Given the description of an element on the screen output the (x, y) to click on. 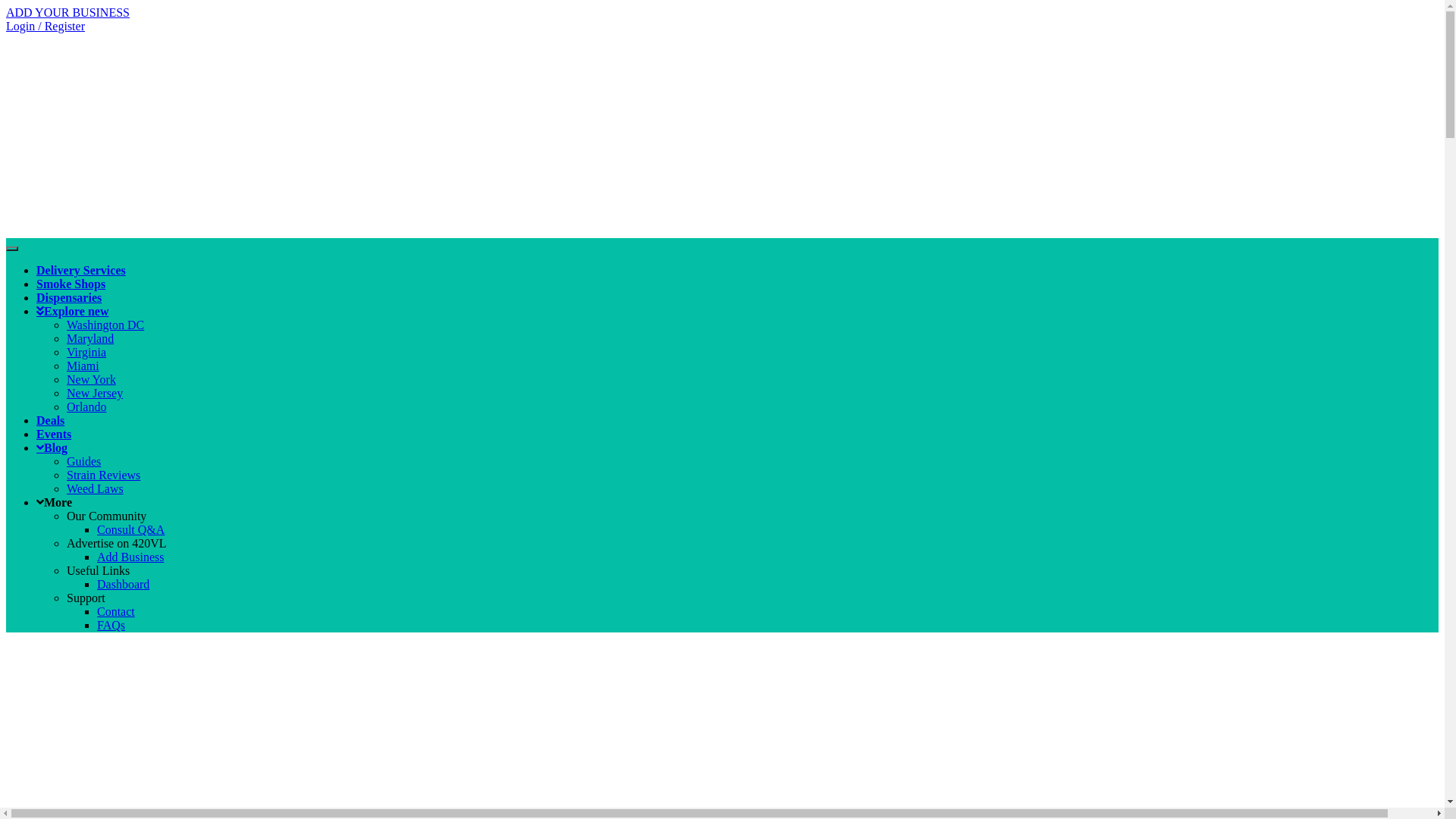
FAQs Element type: text (111, 624)
Maryland Element type: text (89, 338)
Events Element type: text (53, 433)
Dispensaries Element type: text (68, 297)
New Jersey Element type: text (94, 392)
Deals Element type: text (50, 420)
Useful Links Element type: text (97, 570)
ADD YOUR BUSINESS Element type: text (67, 12)
Login / Register Element type: text (45, 25)
Smoke Shops Element type: text (70, 283)
More Element type: text (54, 501)
Delivery Services Element type: text (80, 269)
Add Business Element type: text (130, 556)
Advertise on 420VL Element type: text (116, 542)
Strain Reviews Element type: text (103, 474)
Orlando Element type: text (86, 406)
New York Element type: text (91, 379)
Virginia Element type: text (86, 351)
Miami Element type: text (82, 365)
Our Community Element type: text (106, 515)
Toggle navigation Element type: text (12, 248)
Contact Element type: text (115, 611)
Weed Laws Element type: text (94, 488)
Dashboard Element type: text (123, 583)
Explore new Element type: text (72, 310)
Washington DC Element type: text (105, 324)
Guides Element type: text (83, 461)
Consult Q&A Element type: text (130, 529)
Support Element type: text (85, 597)
